Given the description of an element on the screen output the (x, y) to click on. 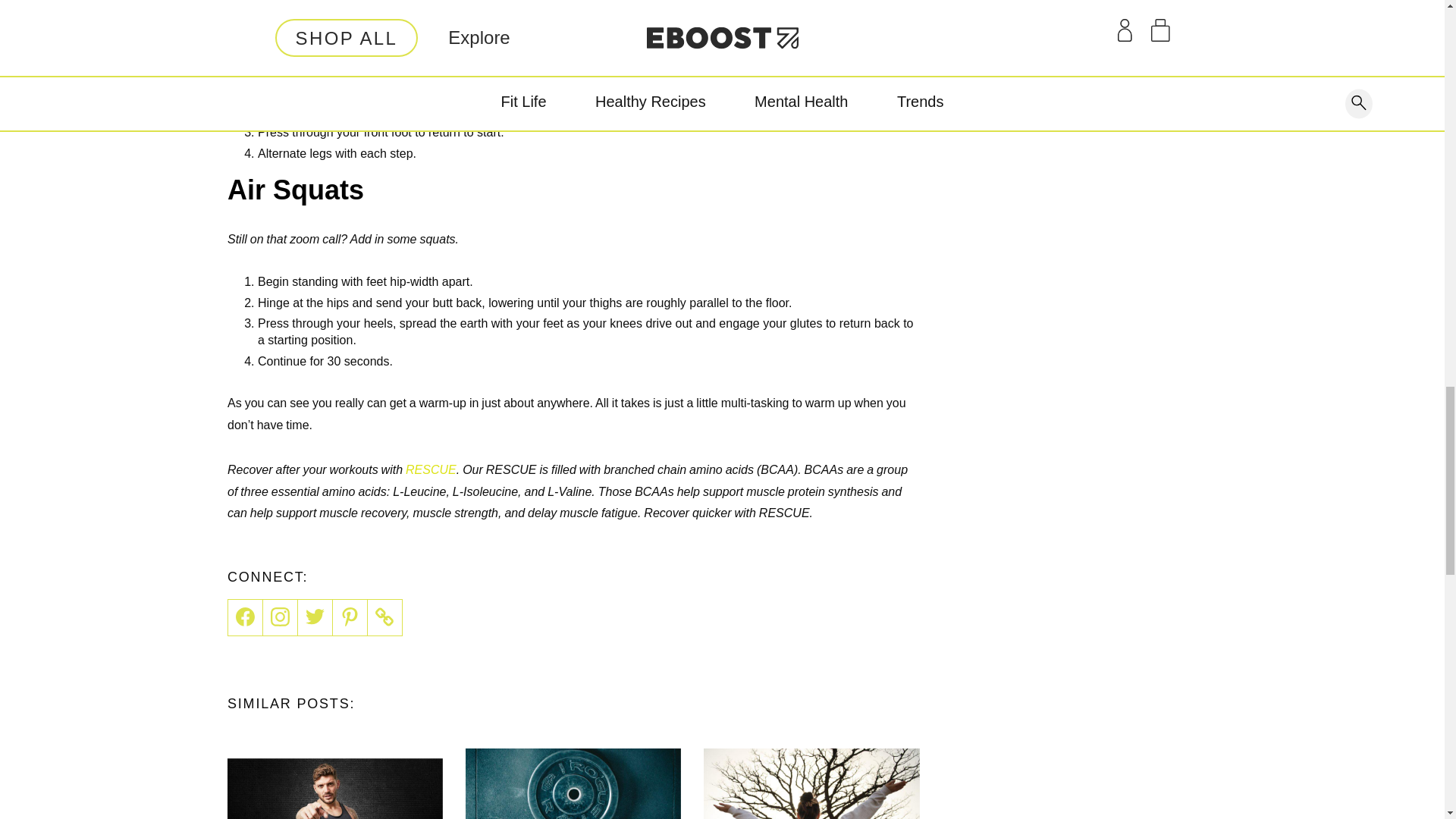
Share on Facebook (245, 617)
Share on Twitter (315, 617)
Share on Pinterest (350, 617)
Instagram (280, 617)
